Given the description of an element on the screen output the (x, y) to click on. 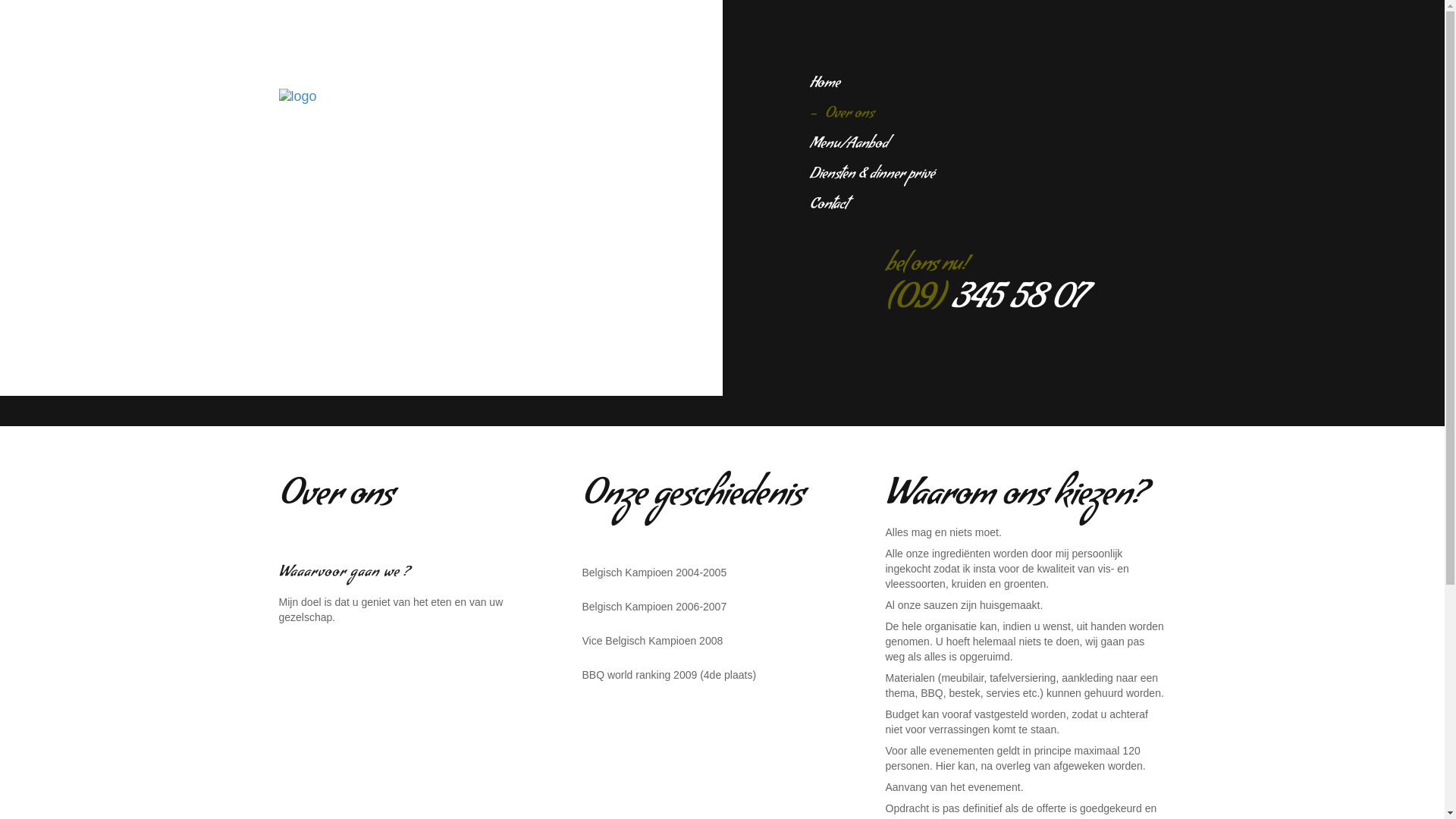
Home Element type: text (824, 84)
(09) 345 58 07 Element type: text (983, 302)
Contact Element type: text (828, 205)
Menu/Aanbod Element type: text (848, 144)
Over ons Element type: text (841, 114)
